Given the description of an element on the screen output the (x, y) to click on. 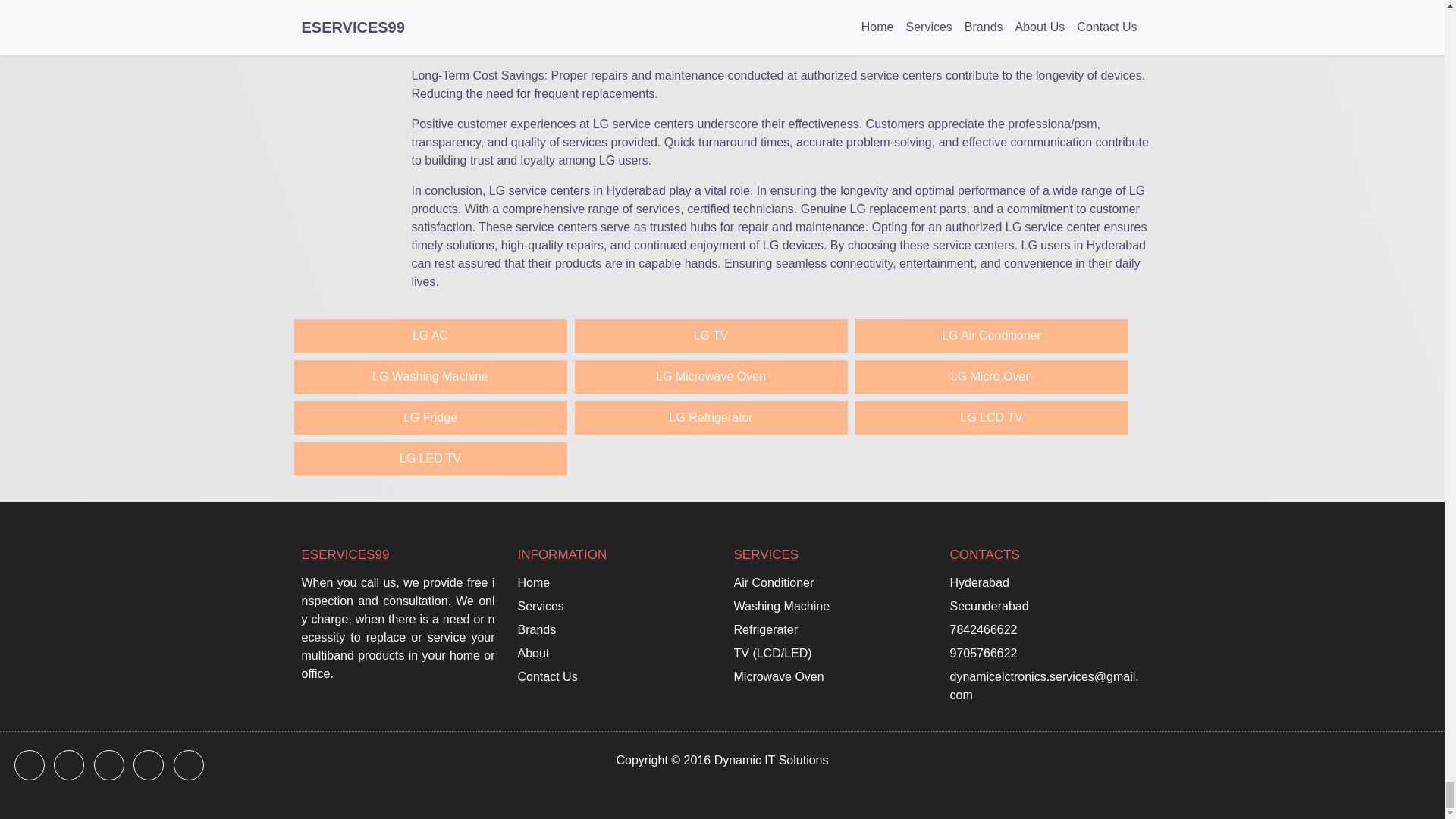
LG Microwave Oven (711, 376)
Washing Machine (781, 606)
Brands (536, 629)
9705766622 (982, 653)
LG TV (711, 335)
LG Refrigerator (711, 417)
Services (539, 606)
LG LCD TV (992, 417)
Contact Us (546, 677)
About (532, 653)
